Given the description of an element on the screen output the (x, y) to click on. 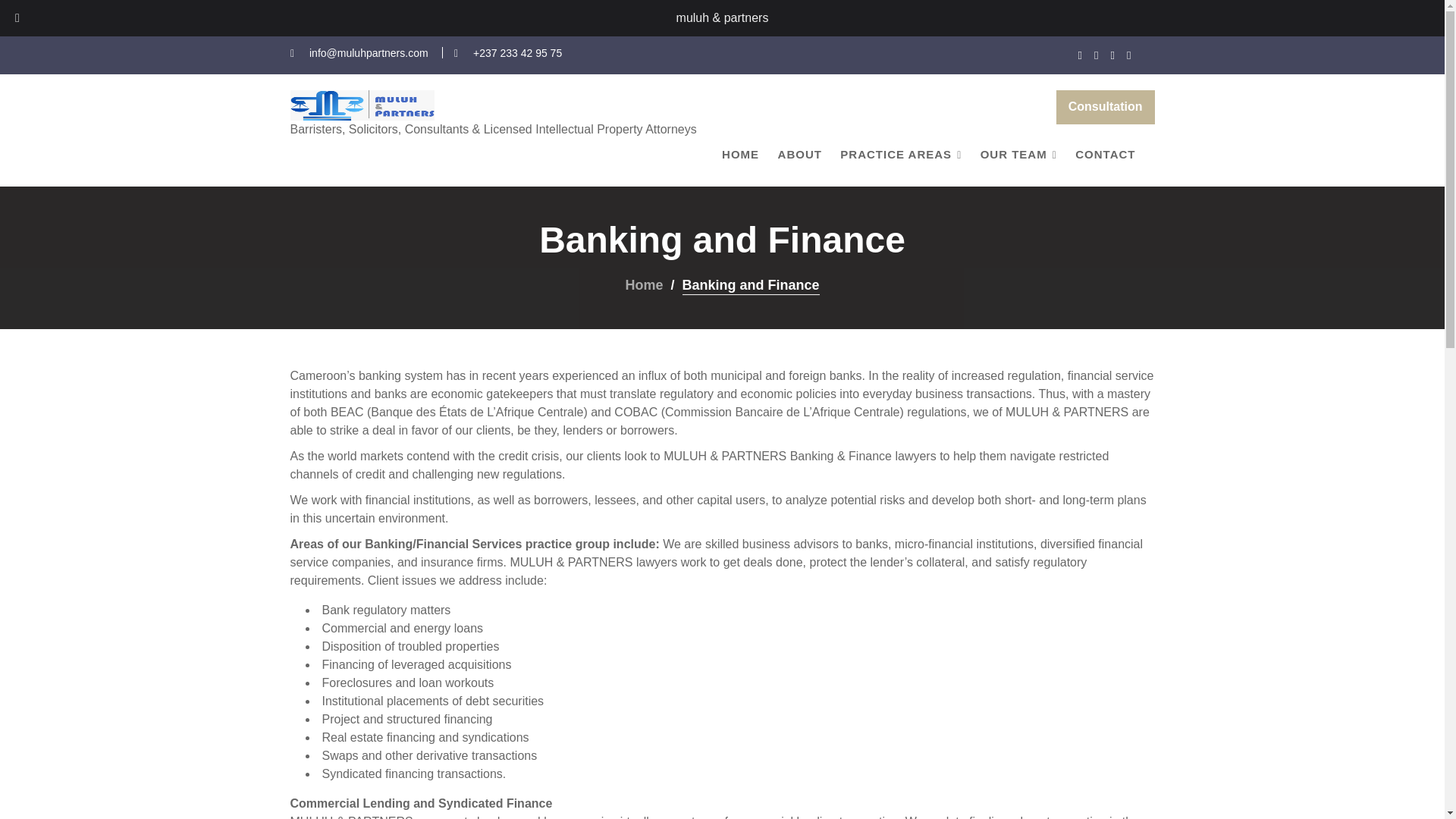
OUR TEAM (1018, 154)
HOME (740, 154)
ABOUT (799, 154)
CONTACT (1104, 154)
Consultation (1105, 107)
Home (643, 285)
PRACTICE AREAS (900, 154)
